Given the description of an element on the screen output the (x, y) to click on. 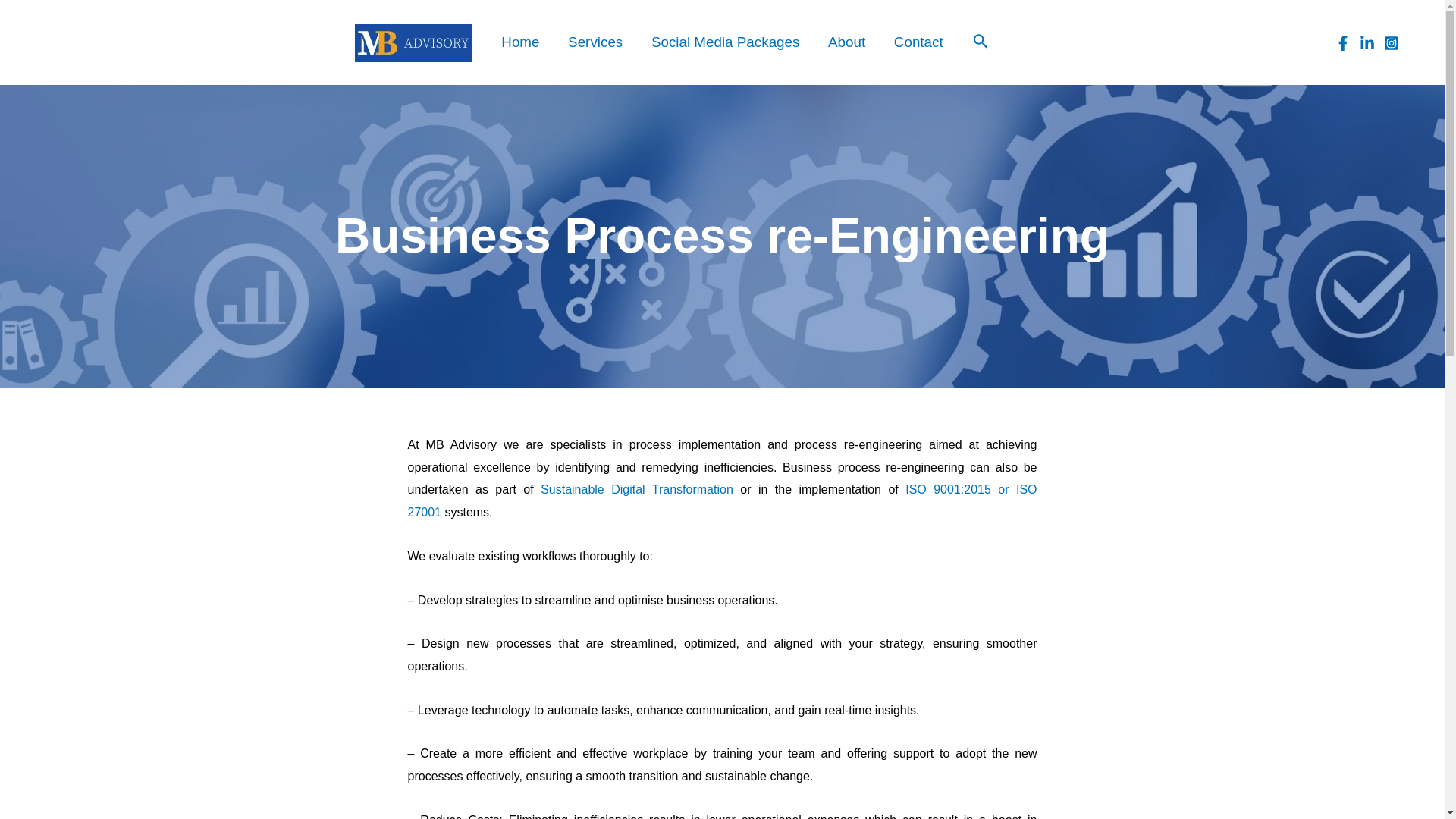
Sustainable Digital Transformation (636, 489)
Contact (917, 42)
Services (595, 42)
ISO 9001:2015 or ISO 27001 (721, 500)
Social Media Packages (725, 42)
